Given the description of an element on the screen output the (x, y) to click on. 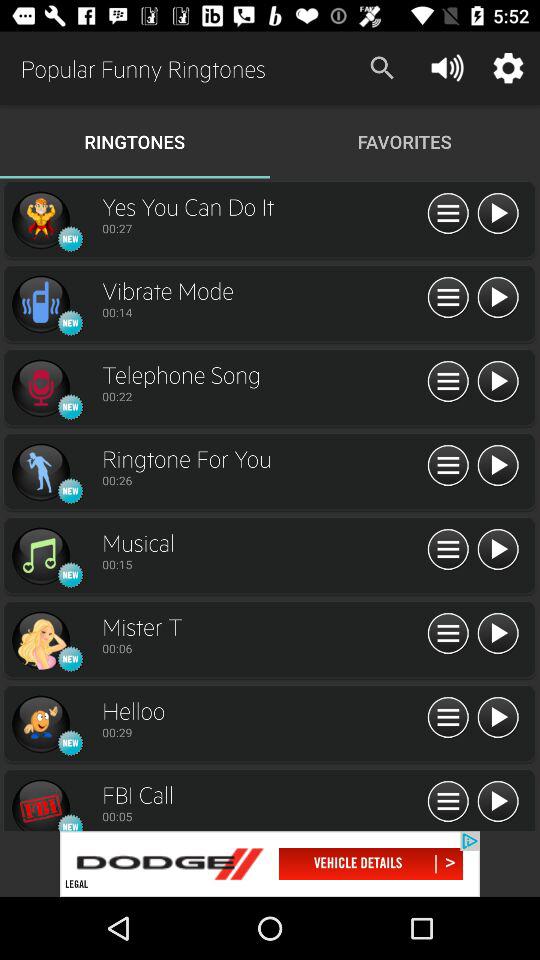
select button (447, 549)
